Given the description of an element on the screen output the (x, y) to click on. 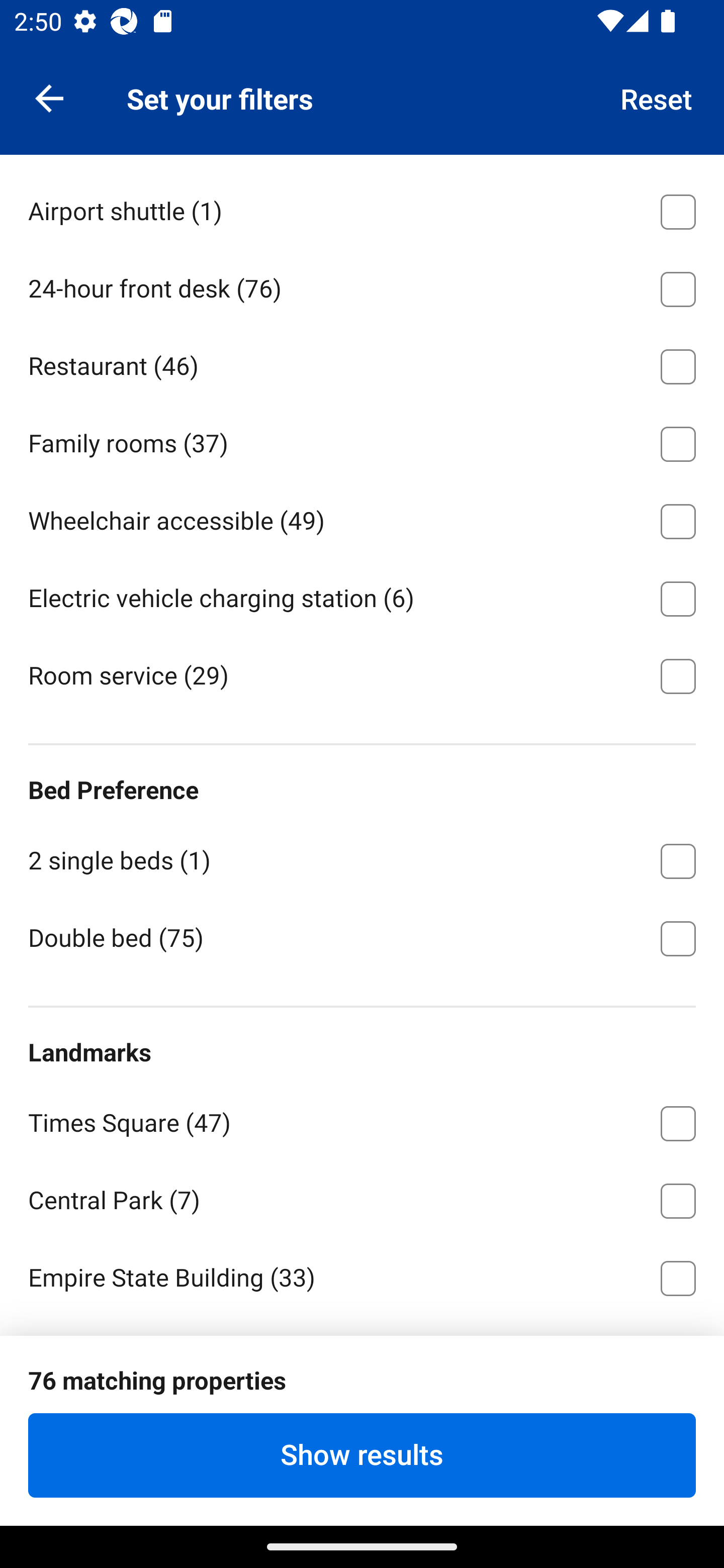
Navigate up (49, 97)
Reset (656, 97)
Airport shuttle ⁦(1) (361, 208)
24-hour front desk ⁦(76) (361, 285)
Restaurant ⁦(46) (361, 362)
Family rooms ⁦(37) (361, 440)
Wheelchair accessible ⁦(49) (361, 517)
Electric vehicle charging station ⁦(6) (361, 594)
Room service ⁦(29) (361, 674)
2 single beds ⁦(1) (361, 857)
Double bed ⁦(75) (361, 936)
Times Square ⁦(47) (361, 1119)
Central Park ⁦(7) (361, 1196)
Empire State Building ⁦(33) (361, 1274)
Show results (361, 1454)
